Given the description of an element on the screen output the (x, y) to click on. 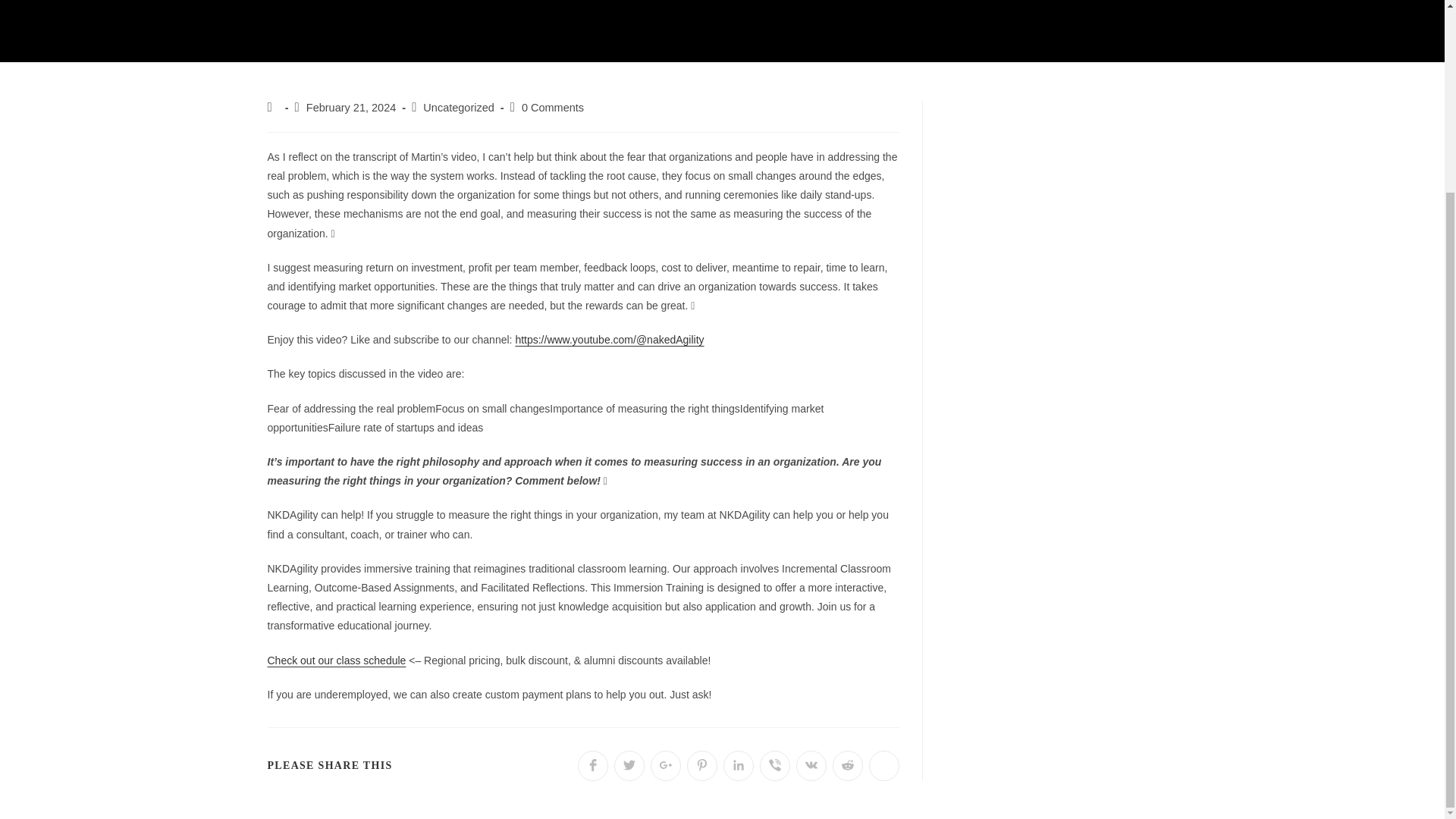
0 Comments (552, 107)
Uncategorized (459, 107)
Check out our class schedule (336, 659)
